Given the description of an element on the screen output the (x, y) to click on. 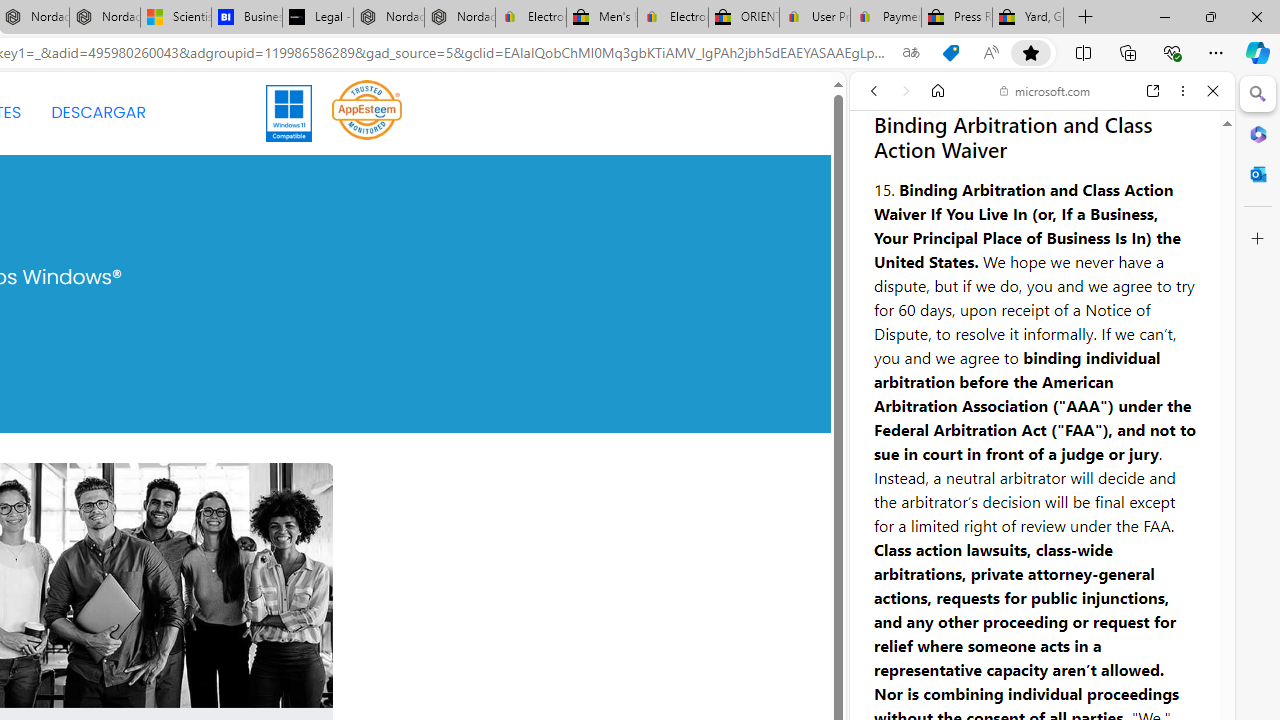
Show translate options (910, 53)
